Given the description of an element on the screen output the (x, y) to click on. 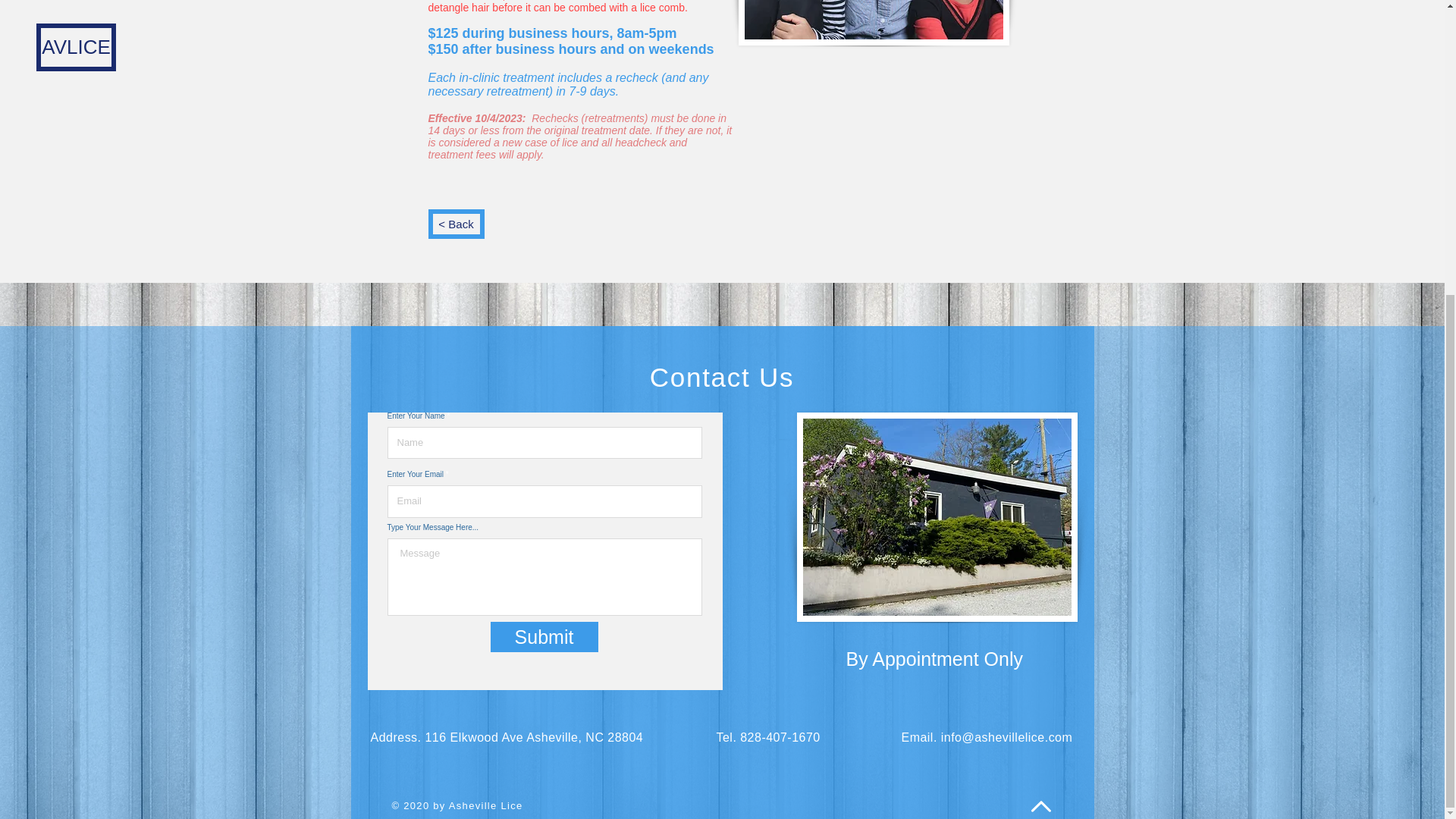
Submit (542, 636)
